Given the description of an element on the screen output the (x, y) to click on. 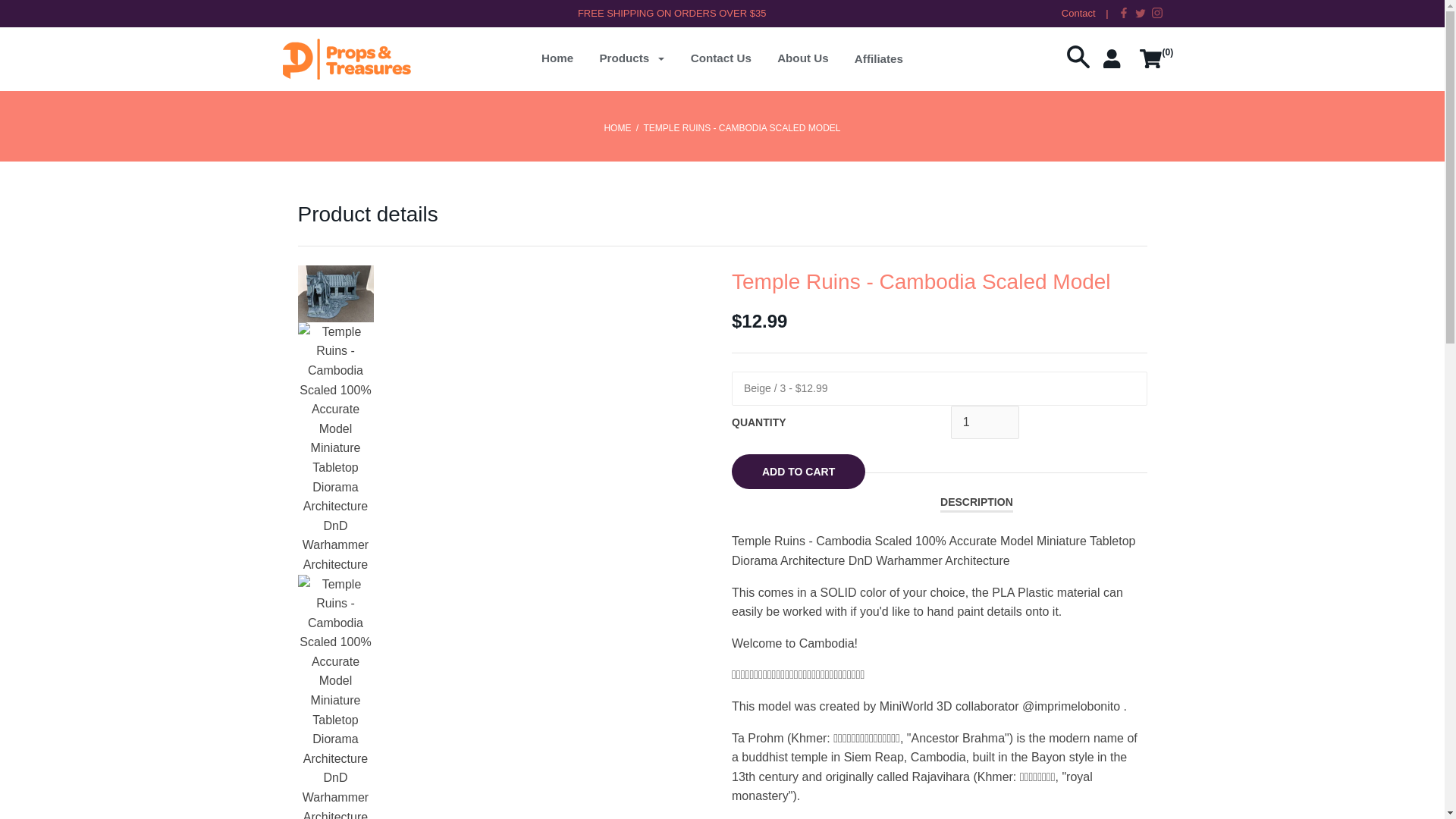
Facebook (1123, 14)
Facebook (1123, 12)
Instagram (1156, 14)
Instagram (1156, 12)
Products (630, 63)
Cart  (1149, 64)
Twitter (1140, 14)
Search (1078, 64)
Twitter (1140, 12)
Home (557, 63)
